Given the description of an element on the screen output the (x, y) to click on. 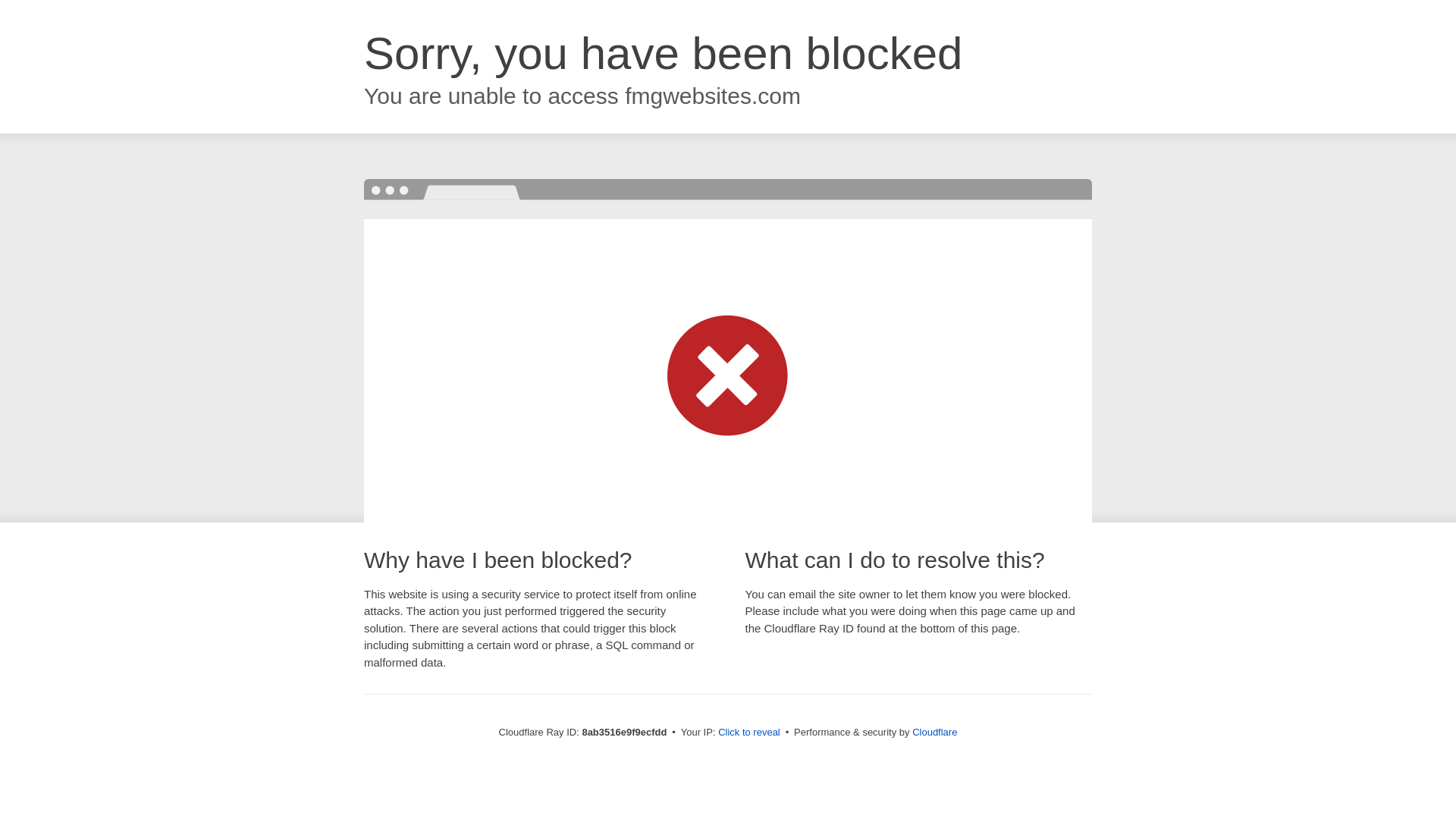
Cloudflare (934, 731)
Click to reveal (748, 732)
